Given the description of an element on the screen output the (x, y) to click on. 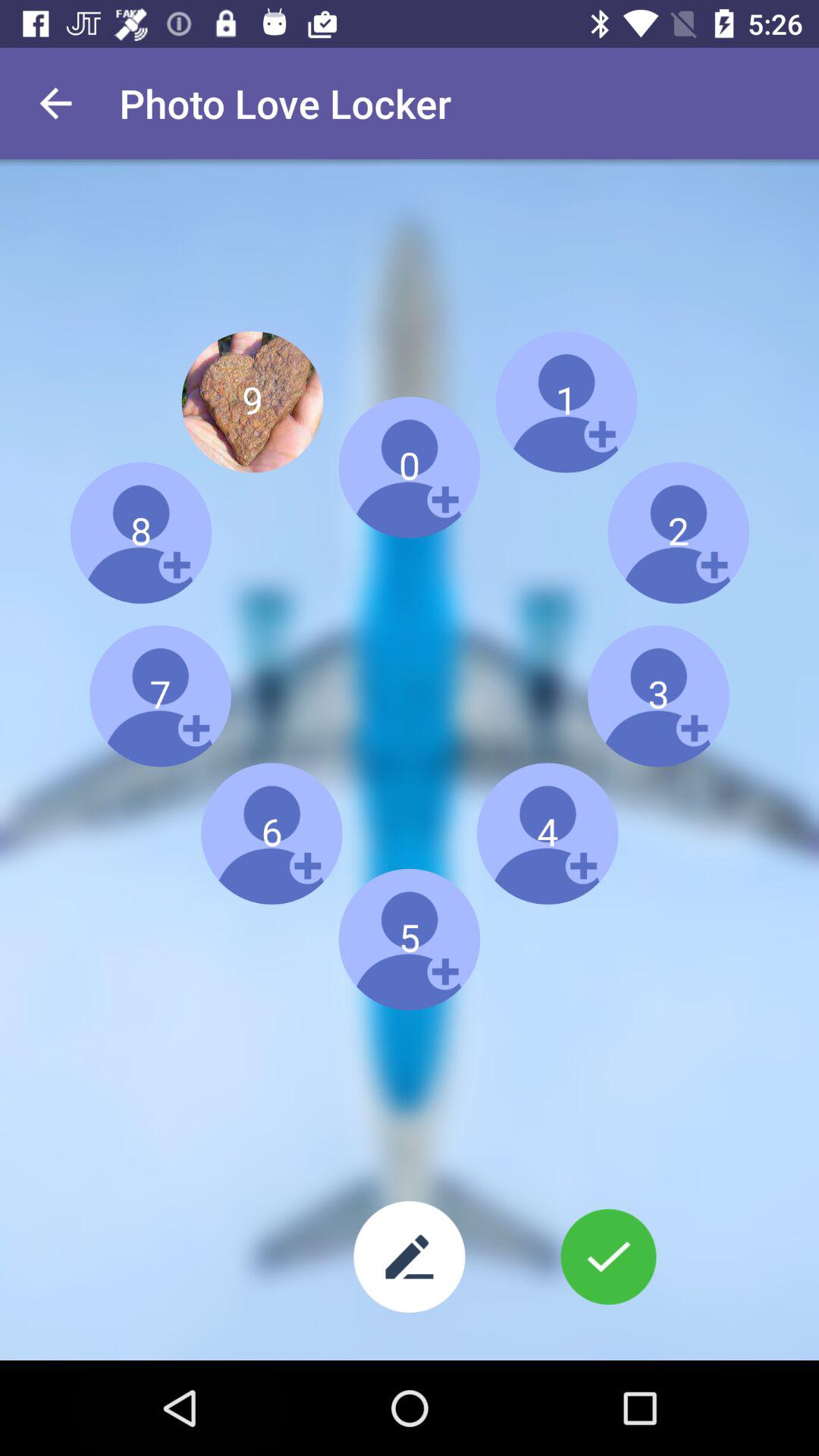
launch the item next to the photo love locker icon (55, 103)
